Given the description of an element on the screen output the (x, y) to click on. 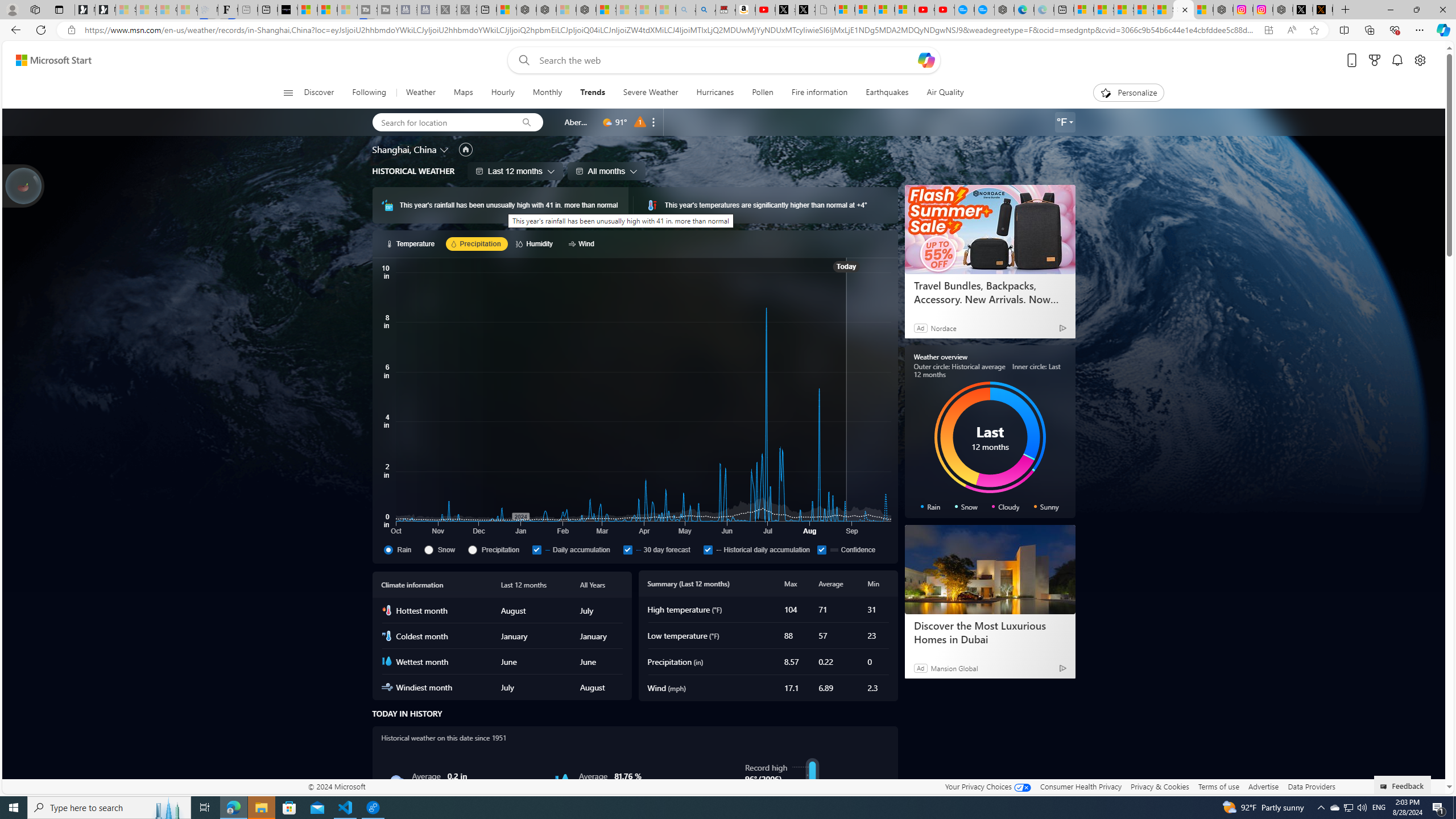
Web search (520, 60)
Mansion Global (954, 668)
Historical daily accumulation (707, 549)
Trends (592, 92)
Confidence (821, 549)
Rain (401, 549)
Severe Weather (650, 92)
